Given the description of an element on the screen output the (x, y) to click on. 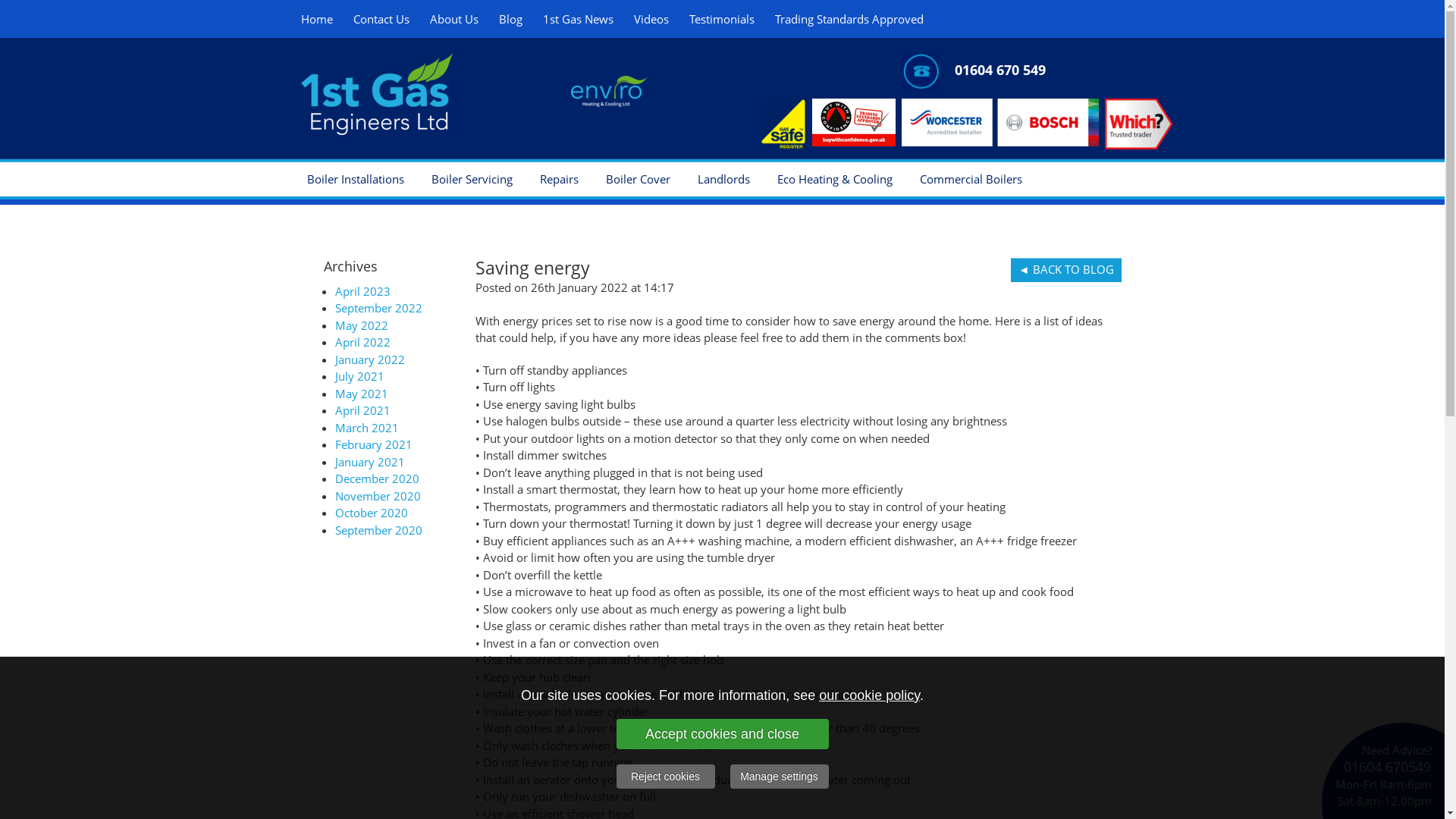
Commercial Boilers Element type: text (970, 178)
September 2022 Element type: text (378, 307)
April 2022 Element type: text (362, 341)
January 2021 Element type: text (369, 460)
November 2020 Element type: text (377, 495)
Boiler Servicing Element type: text (471, 178)
July 2021 Element type: text (359, 375)
Repairs Element type: text (559, 178)
Videos Element type: text (651, 18)
Contact Us Element type: text (381, 18)
October 2020 Element type: text (371, 512)
February 2021 Element type: text (373, 443)
Trading Standards Approved Element type: text (849, 18)
About Us Element type: text (453, 18)
our cookie policy Element type: text (869, 694)
BACK TO BLOG Element type: text (1065, 269)
Landlords Element type: text (723, 178)
Home Element type: text (315, 18)
Boiler Cover Element type: text (637, 178)
December 2020 Element type: text (377, 478)
April 2021 Element type: text (362, 409)
1st Gas News Element type: text (578, 18)
Boiler Installations Element type: text (354, 178)
May 2021 Element type: text (361, 392)
Manage settings Element type: text (778, 776)
September 2020 Element type: text (378, 528)
Blog Element type: text (510, 18)
March 2021 Element type: text (366, 427)
May 2022 Element type: text (361, 324)
Eco Heating & Cooling Element type: text (833, 178)
Testimonials Element type: text (720, 18)
January 2022 Element type: text (369, 359)
April 2023 Element type: text (362, 290)
